Given the description of an element on the screen output the (x, y) to click on. 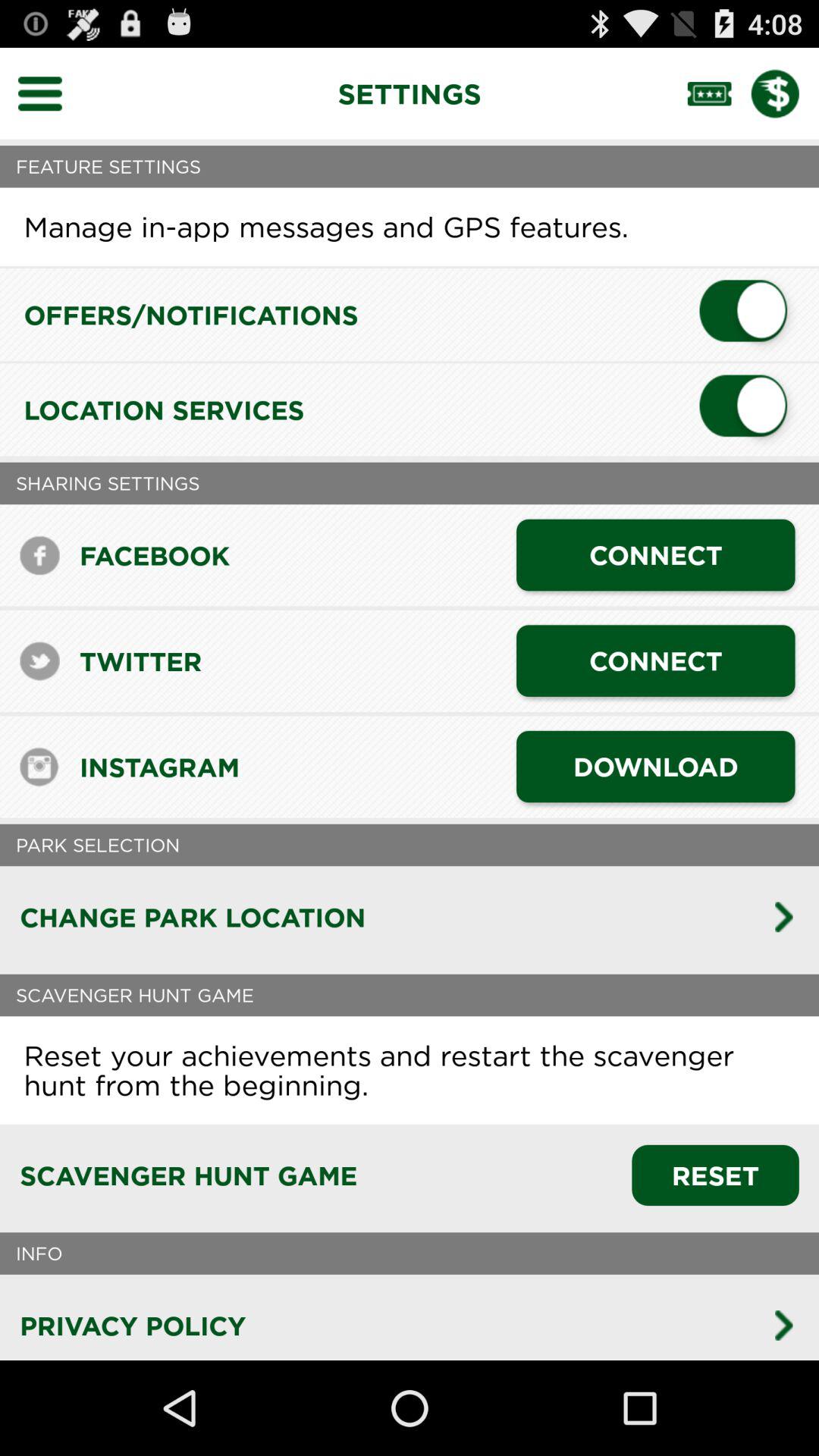
turn off (749, 314)
